Given the description of an element on the screen output the (x, y) to click on. 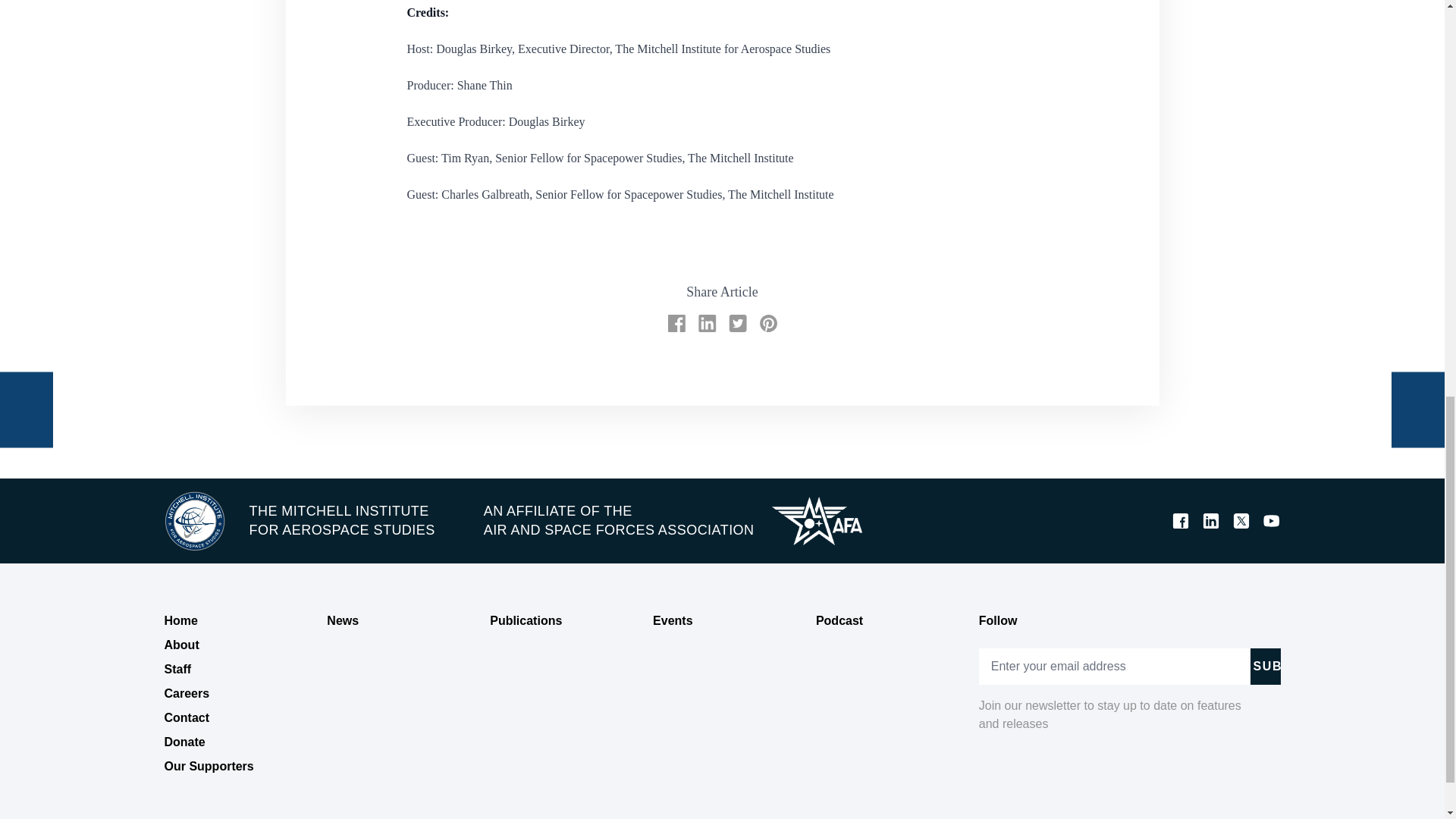
Subscribe (1264, 666)
